Given the description of an element on the screen output the (x, y) to click on. 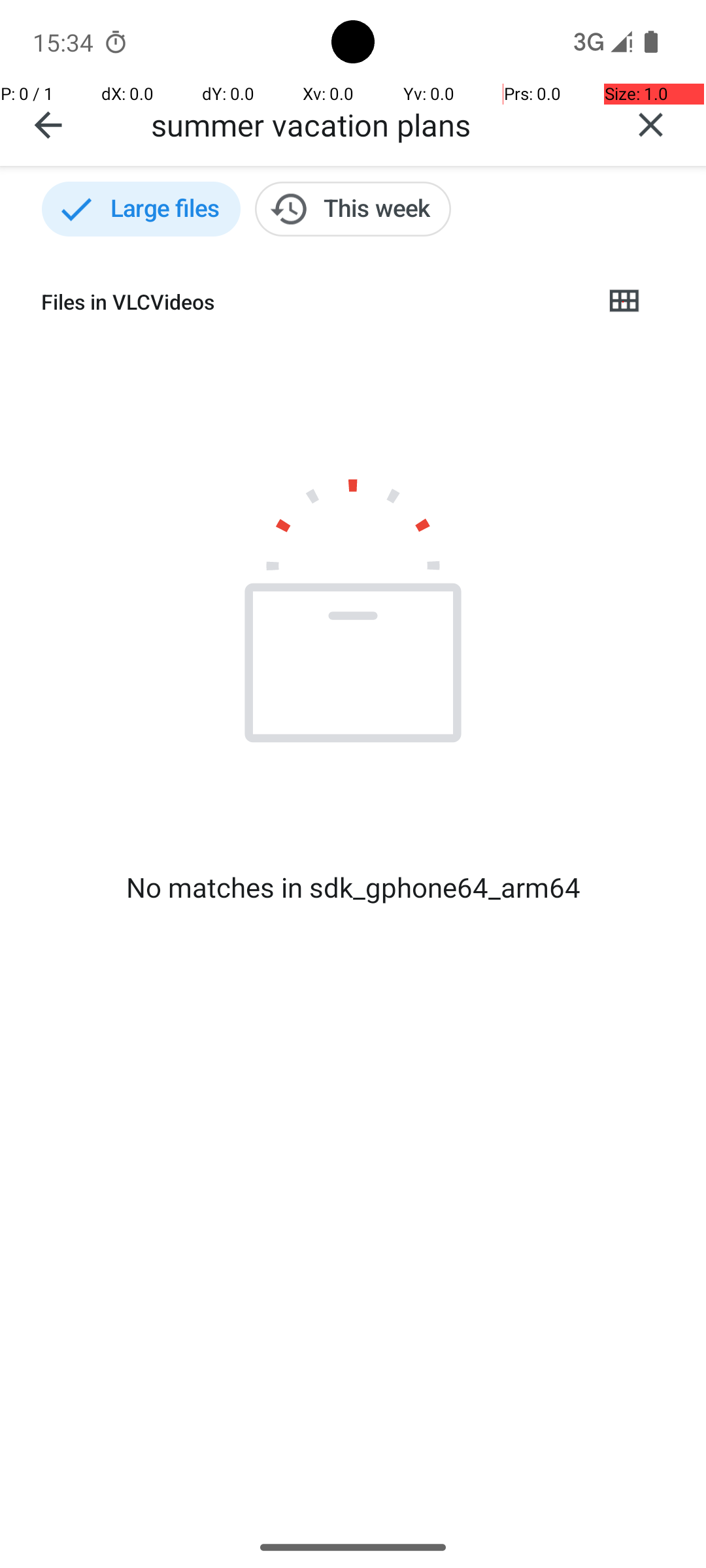
Files in VLCVideos Element type: android.widget.TextView (311, 301)
summer vacation plans Element type: android.widget.AutoCompleteTextView (373, 124)
No matches in sdk_gphone64_arm64 Element type: android.widget.TextView (353, 886)
